Given the description of an element on the screen output the (x, y) to click on. 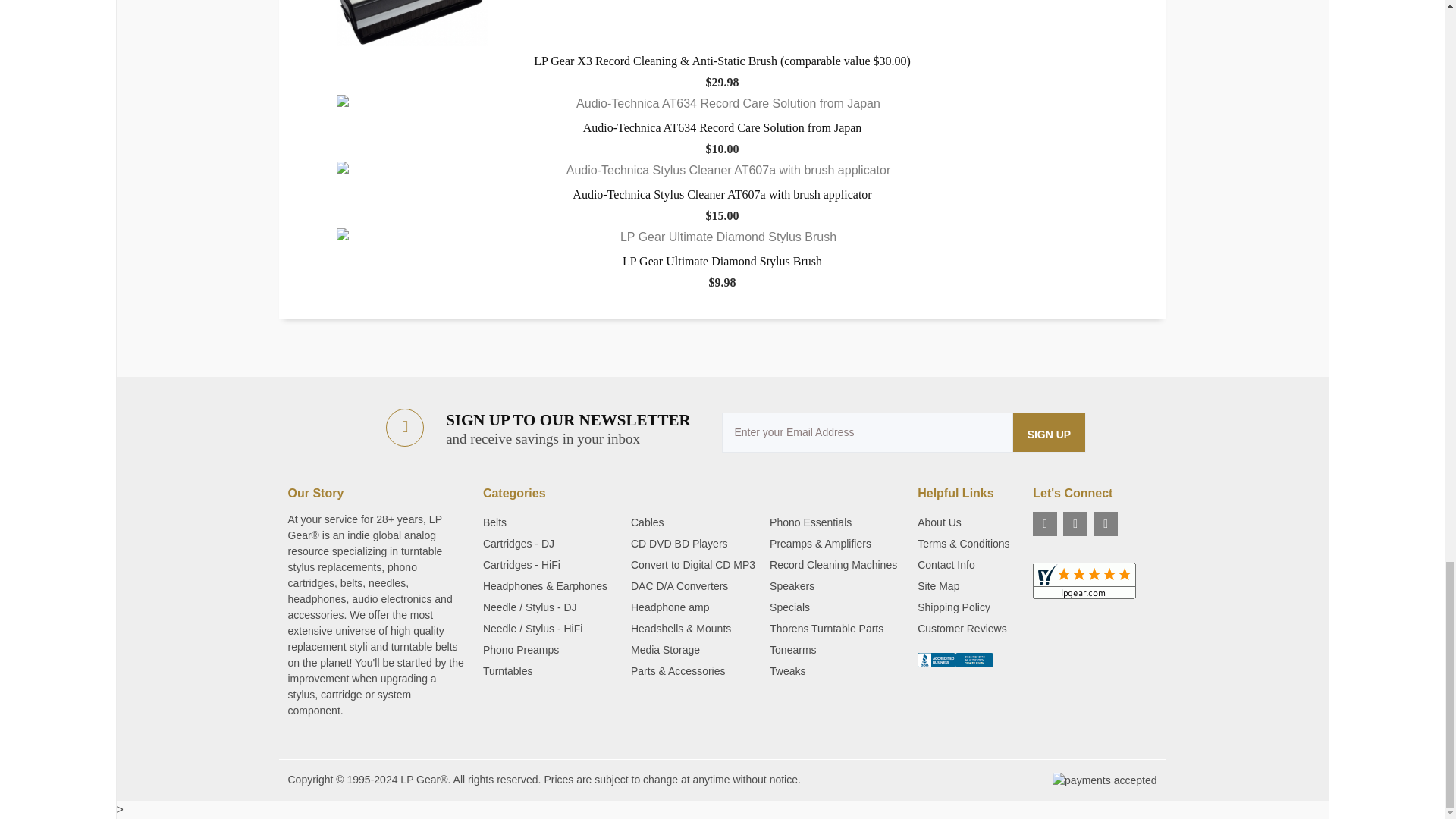
Sign Up (1049, 432)
